Given the description of an element on the screen output the (x, y) to click on. 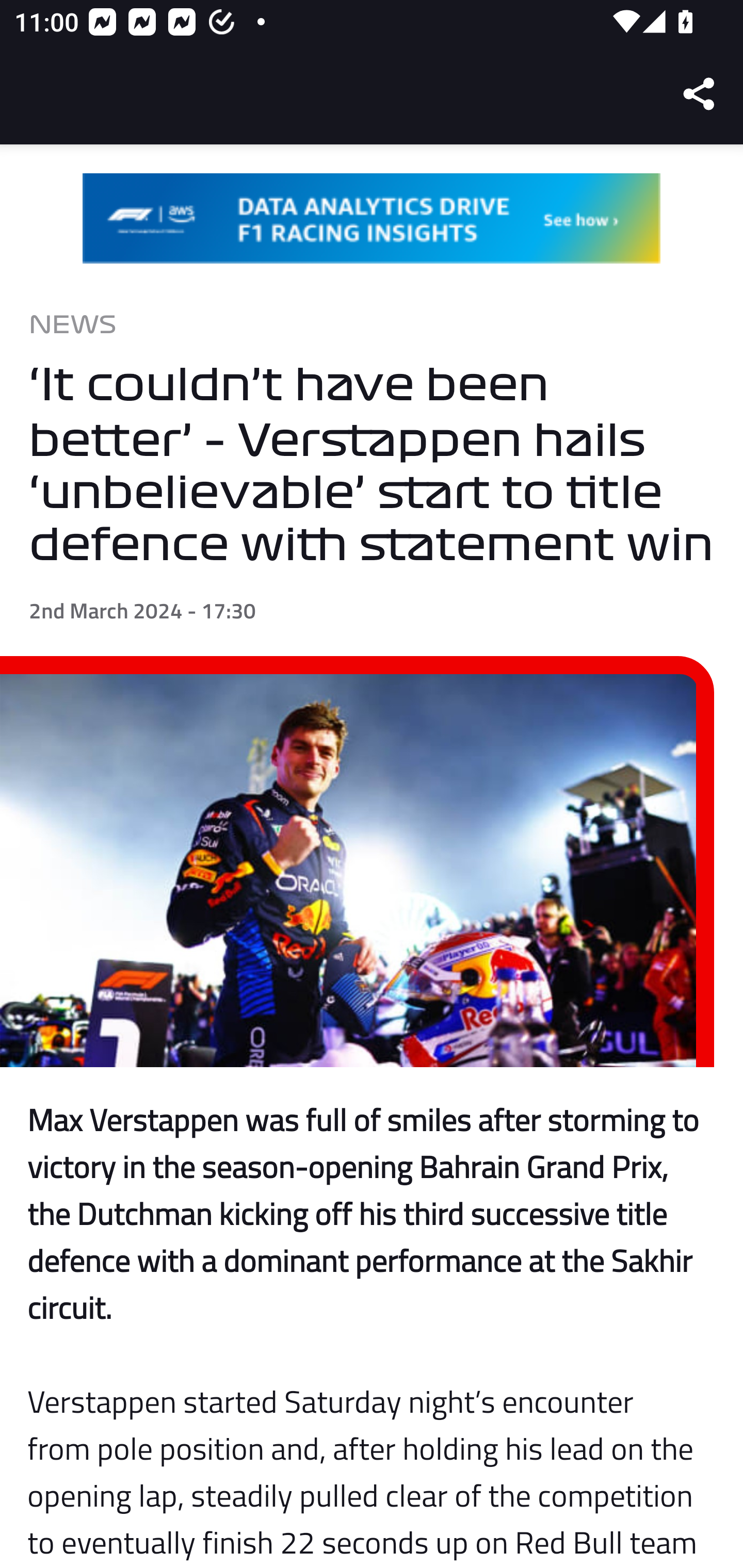
Share (699, 93)
